Given the description of an element on the screen output the (x, y) to click on. 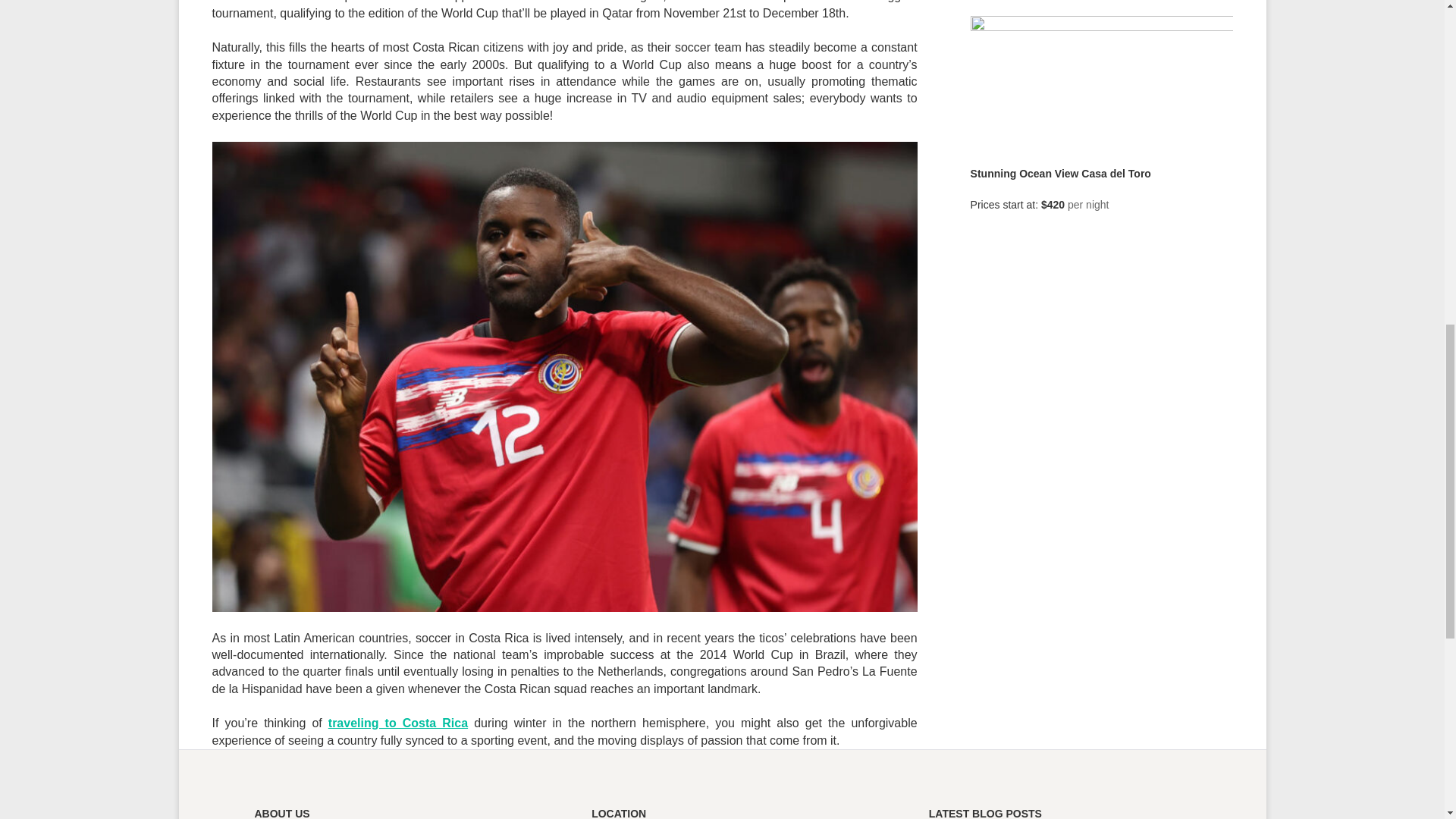
traveling to Costa Rica (398, 722)
Stunning Ocean View Casa del Toro (1061, 173)
Choose dates to see relevant prices (1087, 204)
